Given the description of an element on the screen output the (x, y) to click on. 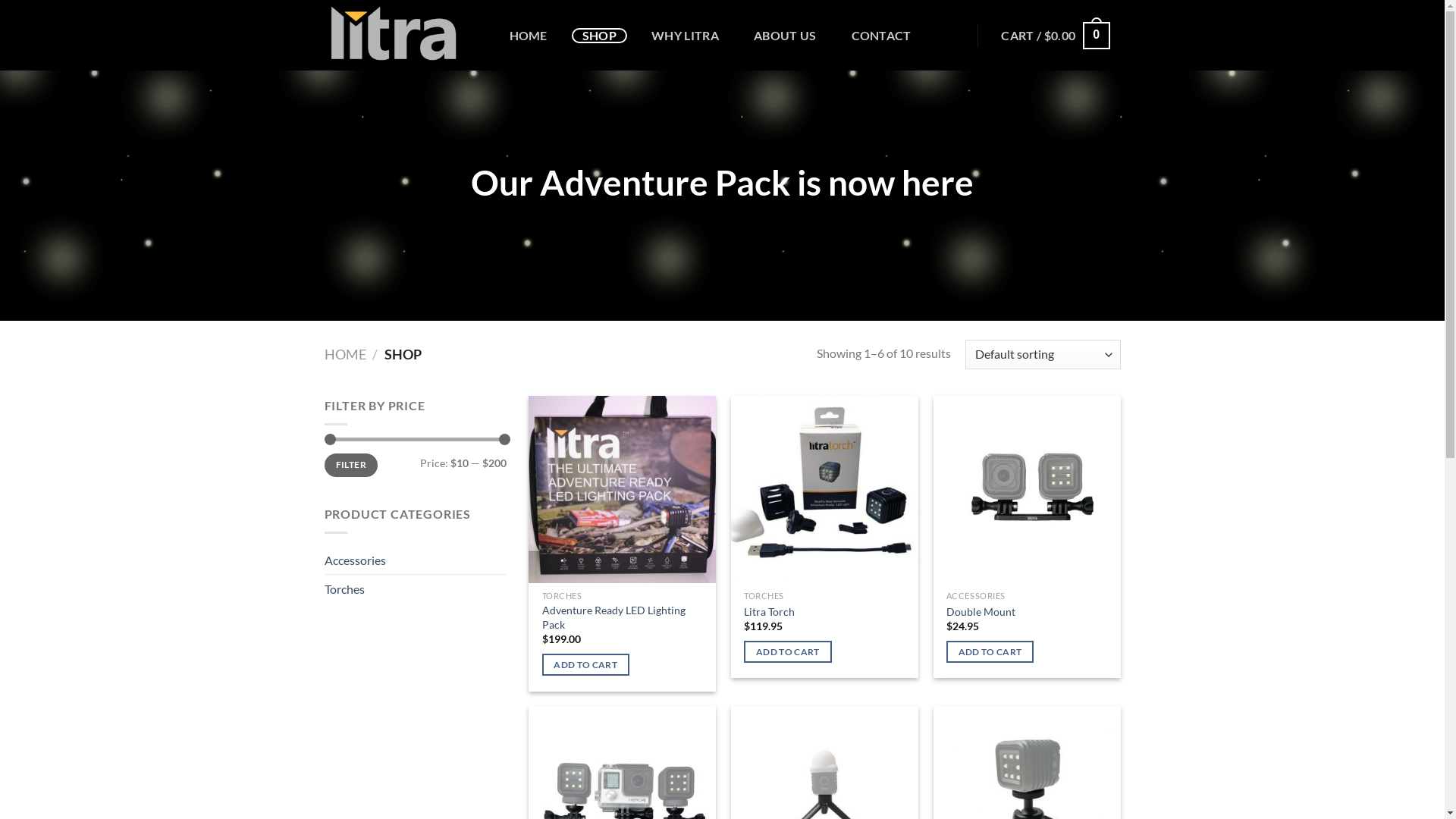
Double Mount Element type: text (980, 612)
FILTER Element type: text (351, 464)
ADD TO CART Element type: text (585, 664)
CONTACT Element type: text (881, 35)
Litra Torch Element type: text (768, 612)
Adventure Ready LED Lighting Pack Element type: text (622, 617)
ADD TO CART Element type: text (787, 651)
ABOUT US Element type: text (785, 35)
Accessories Element type: text (415, 560)
CART / $0.00
0 Element type: text (1055, 35)
WHY LITRA Element type: text (684, 35)
Litra Australia - Professional Adventure Lighting Element type: hover (400, 35)
ADD TO CART Element type: text (989, 651)
Torches Element type: text (415, 588)
SHOP Element type: text (599, 35)
HOME Element type: text (345, 353)
HOME Element type: text (528, 35)
